Given the description of an element on the screen output the (x, y) to click on. 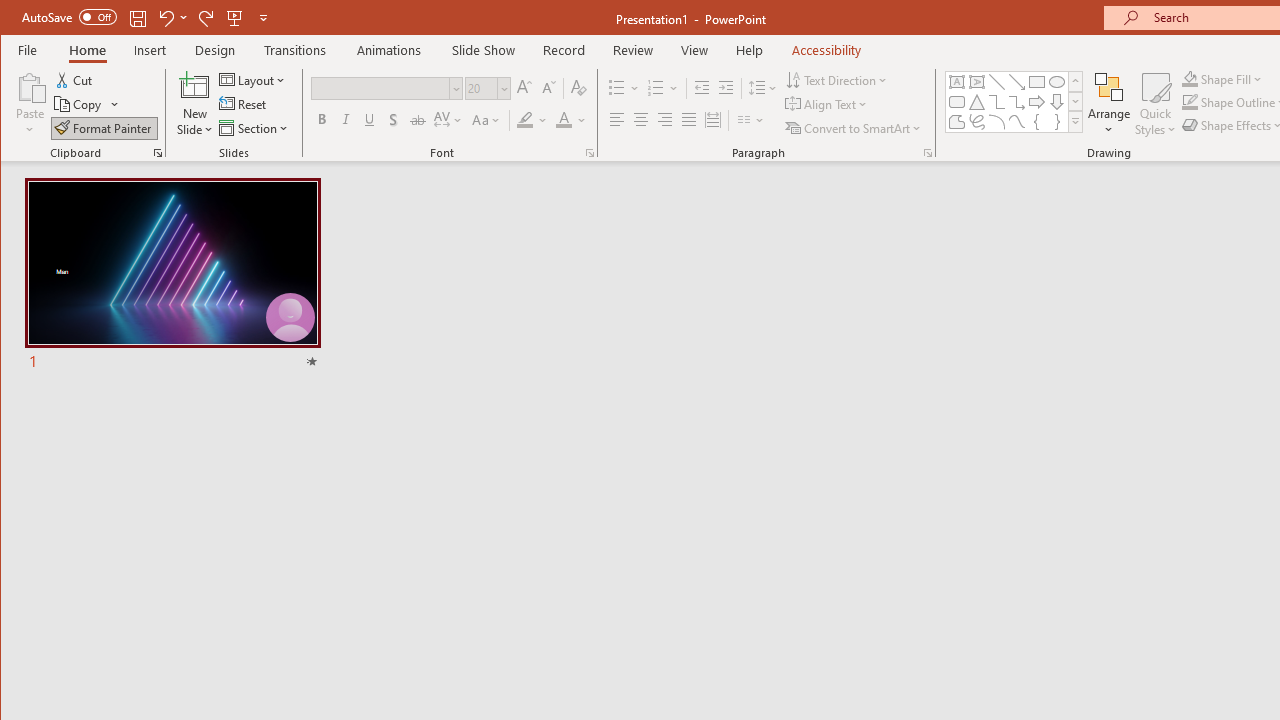
Shape Fill Orange, Accent 2 (1189, 78)
